Given the description of an element on the screen output the (x, y) to click on. 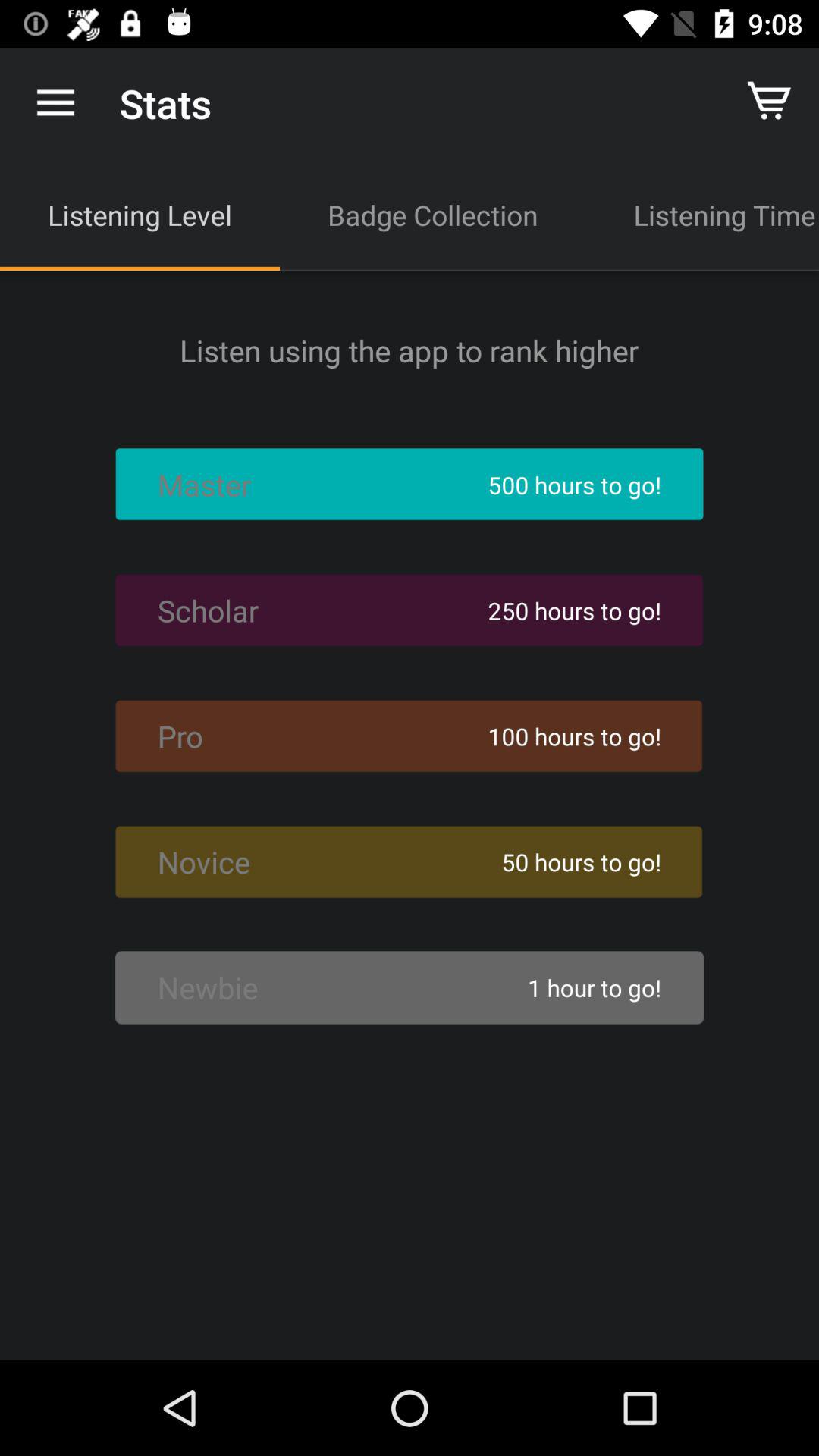
open the item above the listening level app (55, 103)
